Given the description of an element on the screen output the (x, y) to click on. 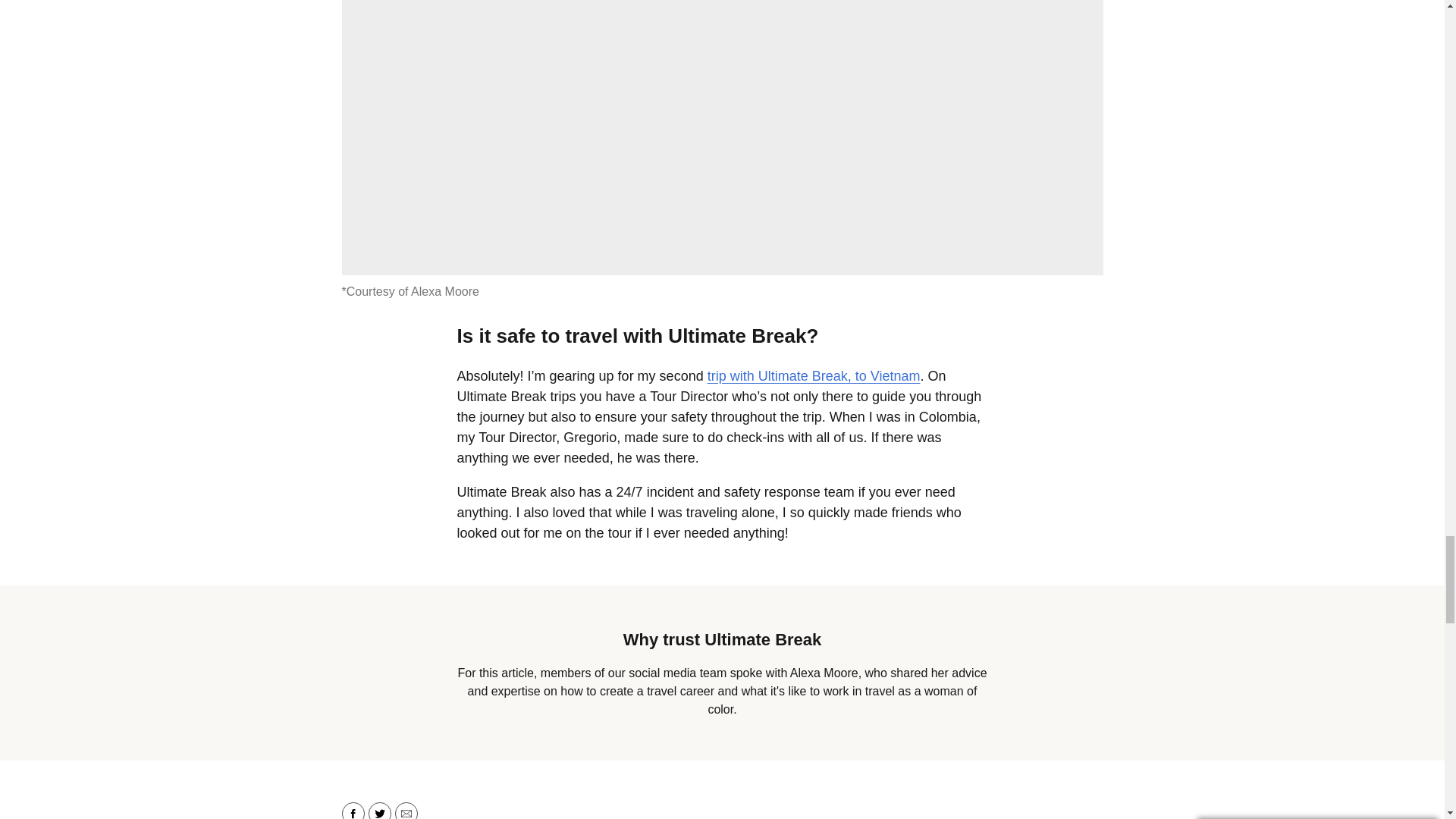
trip with Ultimate Break, to Vietnam (813, 376)
